Given the description of an element on the screen output the (x, y) to click on. 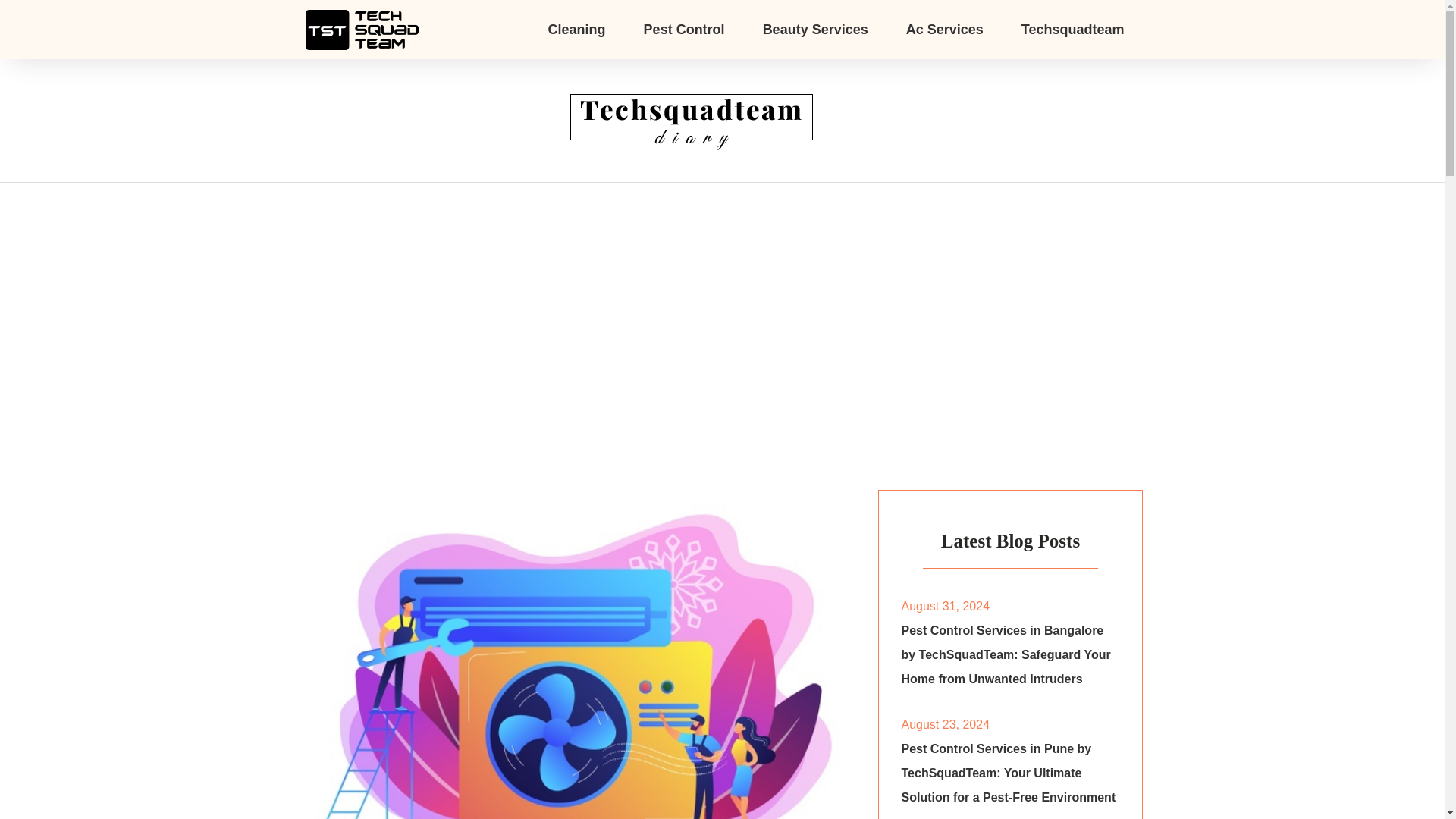
Pest Control (684, 29)
Beauty Services (815, 29)
Cleaning (576, 29)
Ac Services (944, 29)
Techsquadteam (1072, 29)
